Given the description of an element on the screen output the (x, y) to click on. 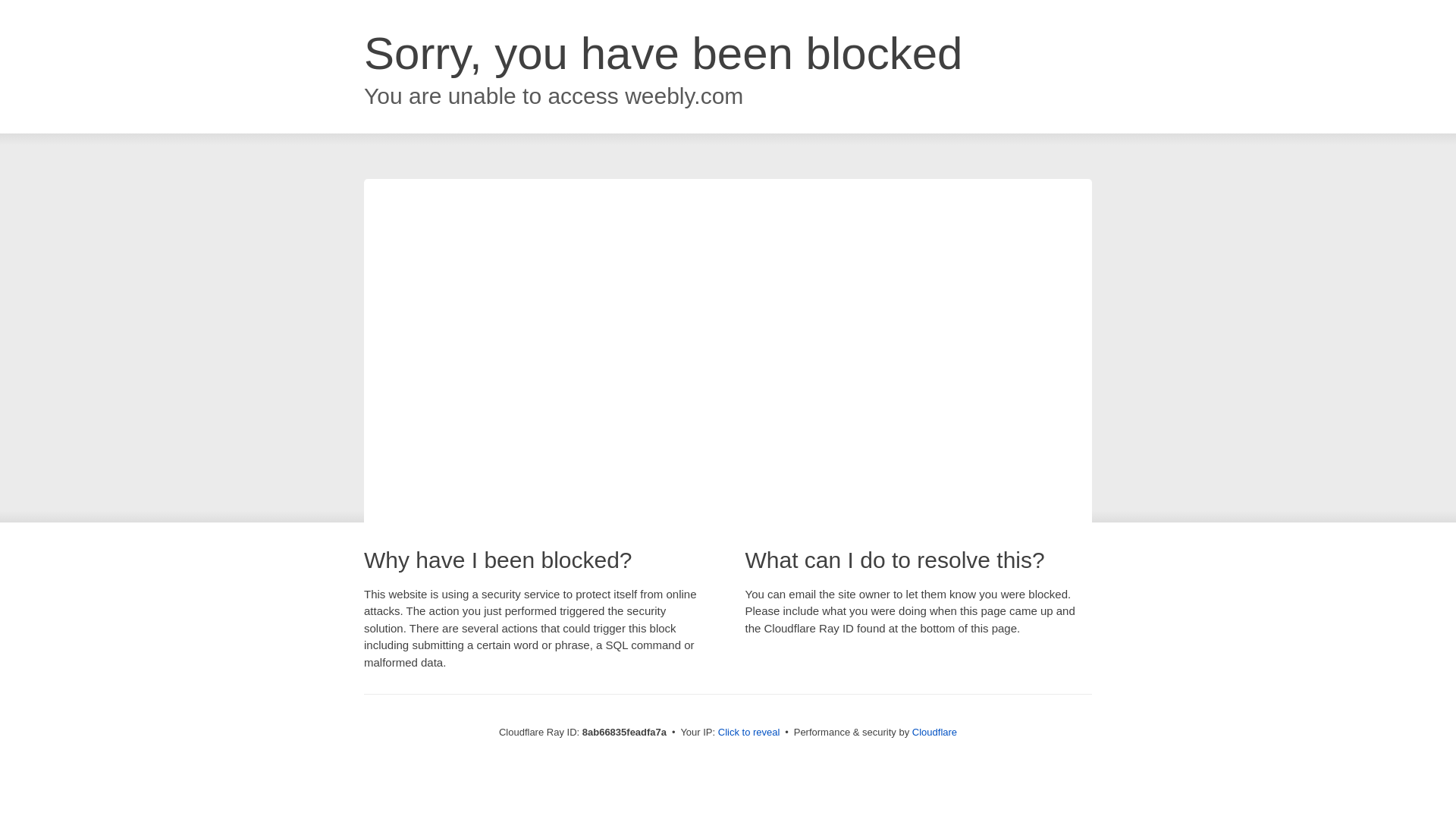
Cloudflare (934, 731)
Click to reveal (748, 732)
